Given the description of an element on the screen output the (x, y) to click on. 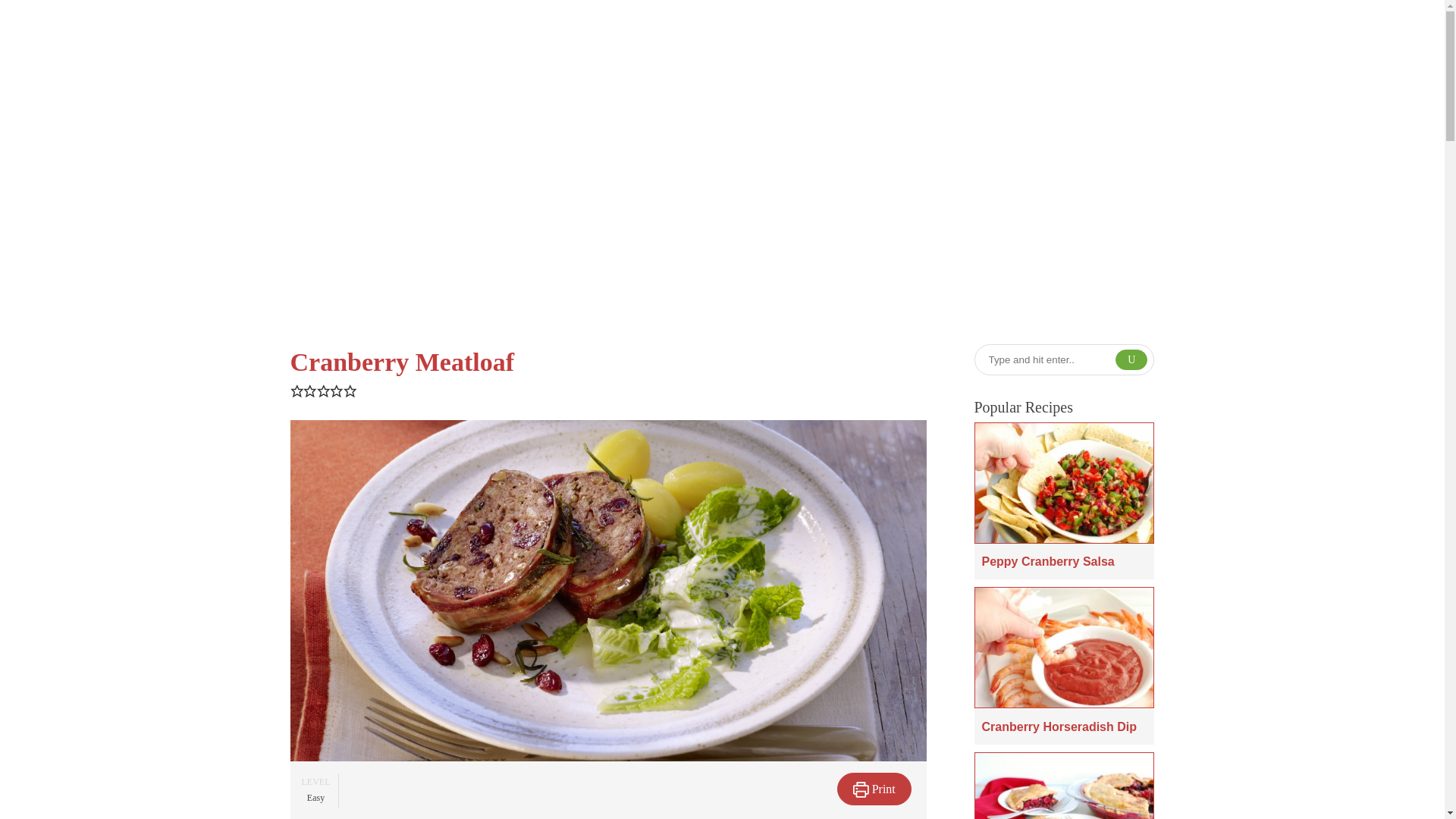
Cranberries (780, 36)
Retail (1045, 36)
Industry (1112, 36)
Recipes (872, 36)
Home (610, 204)
uscranberries-logo (417, 35)
Foodservice (966, 36)
